Given the description of an element on the screen output the (x, y) to click on. 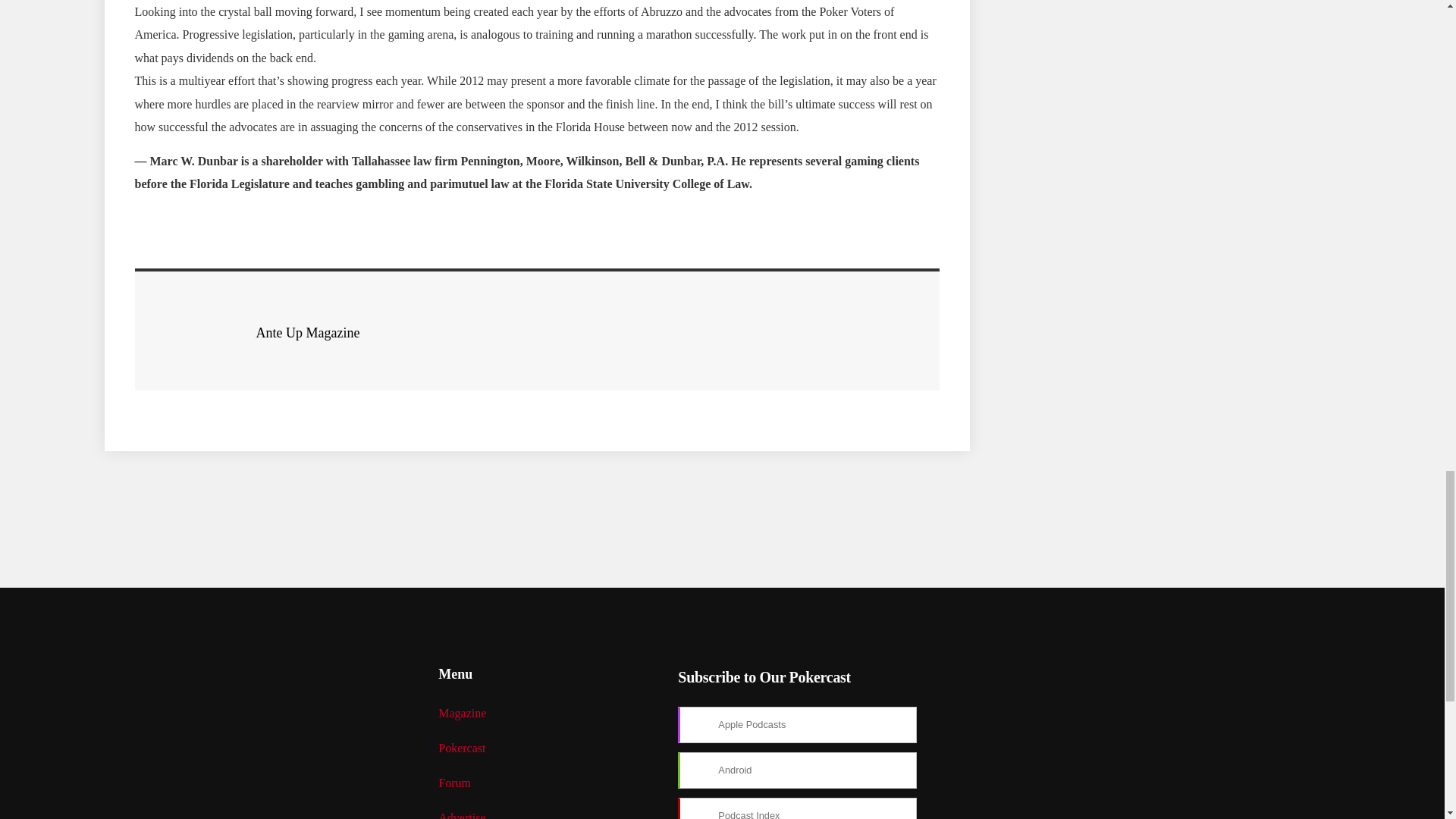
Subscribe on Podcast Index (797, 808)
Subscribe on Android (797, 770)
Subscribe on Apple Podcasts (797, 724)
